Given the description of an element on the screen output the (x, y) to click on. 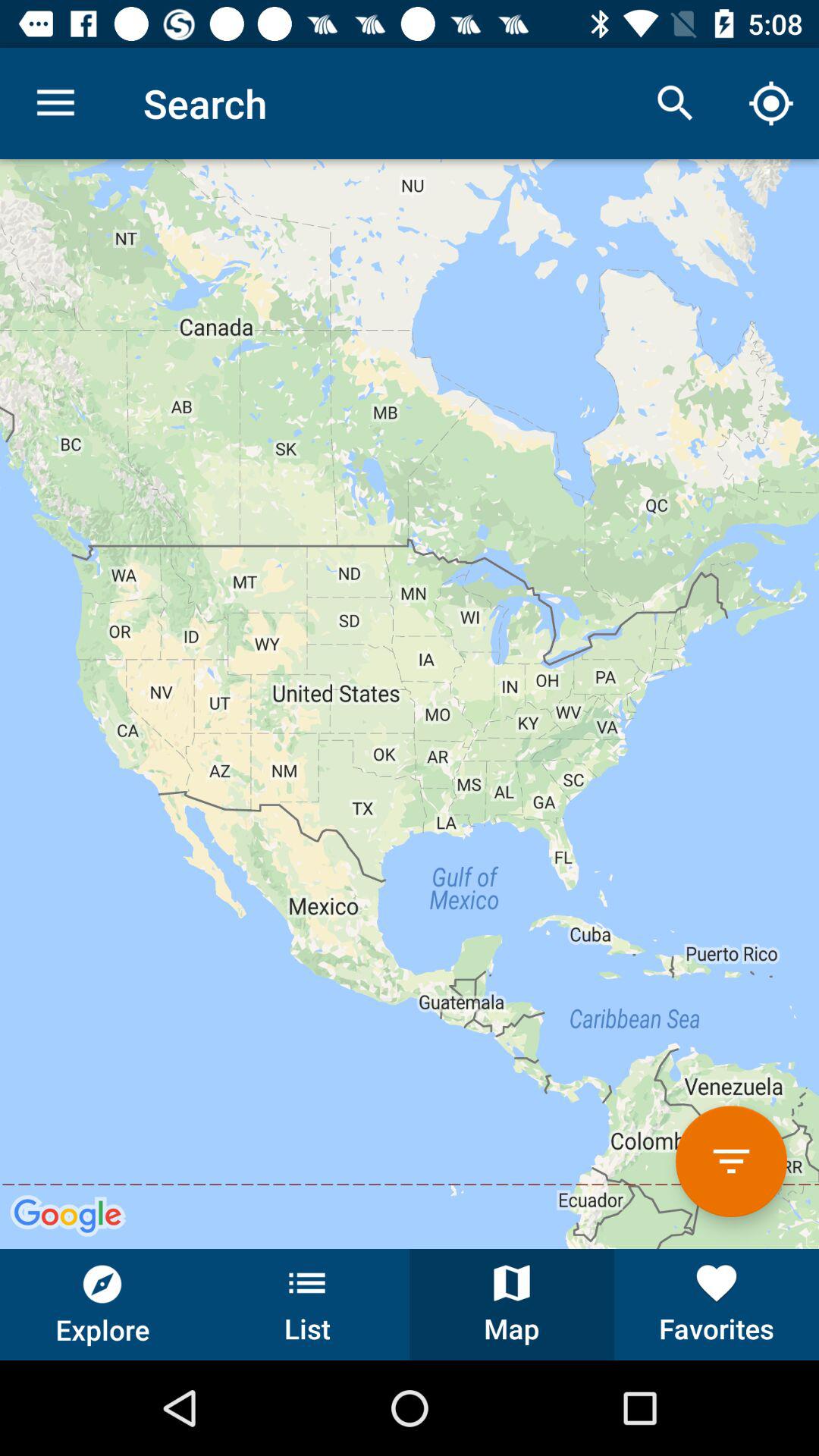
turn off icon to the left of map (306, 1304)
